Given the description of an element on the screen output the (x, y) to click on. 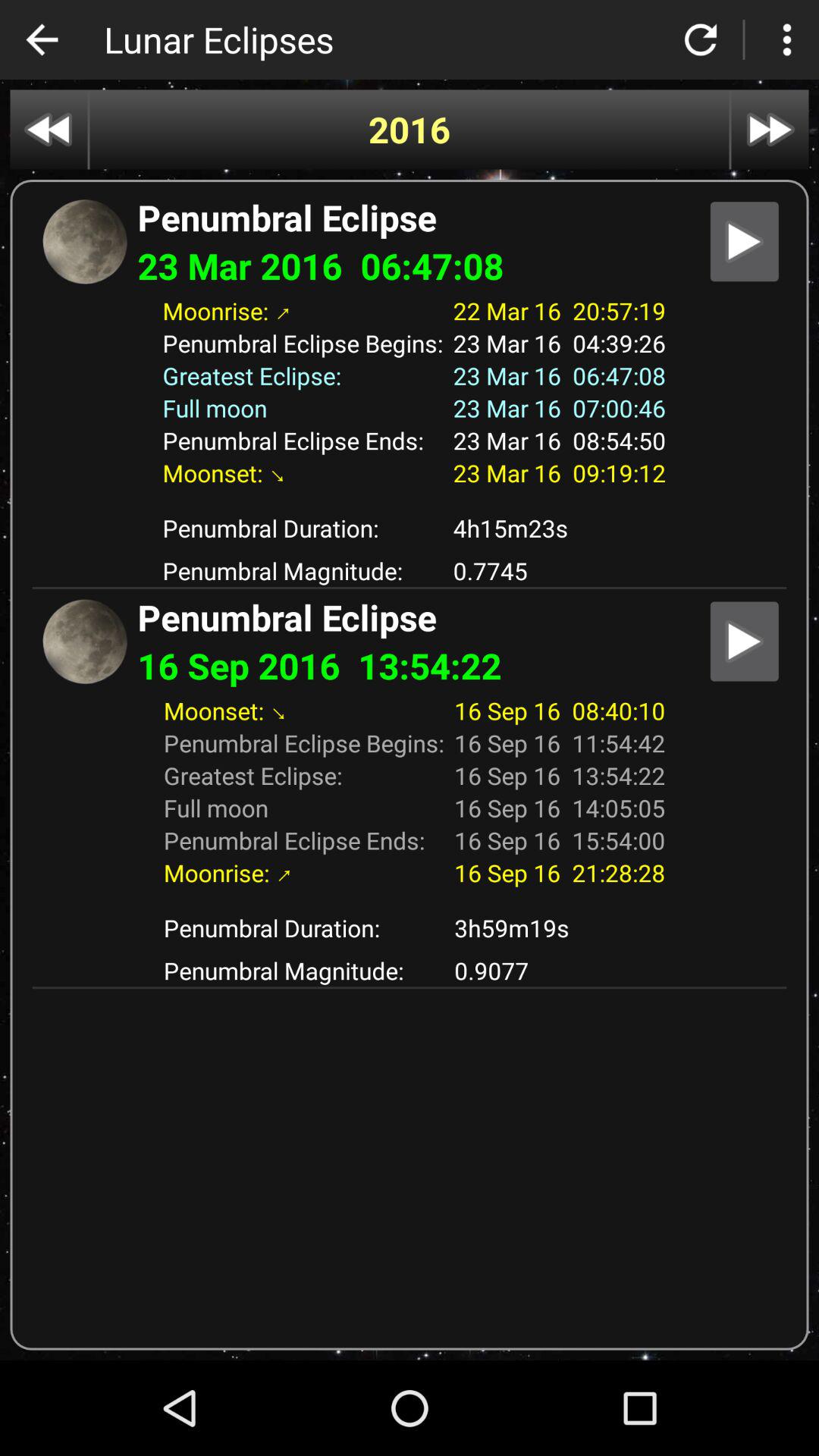
forward to next year (769, 129)
